Given the description of an element on the screen output the (x, y) to click on. 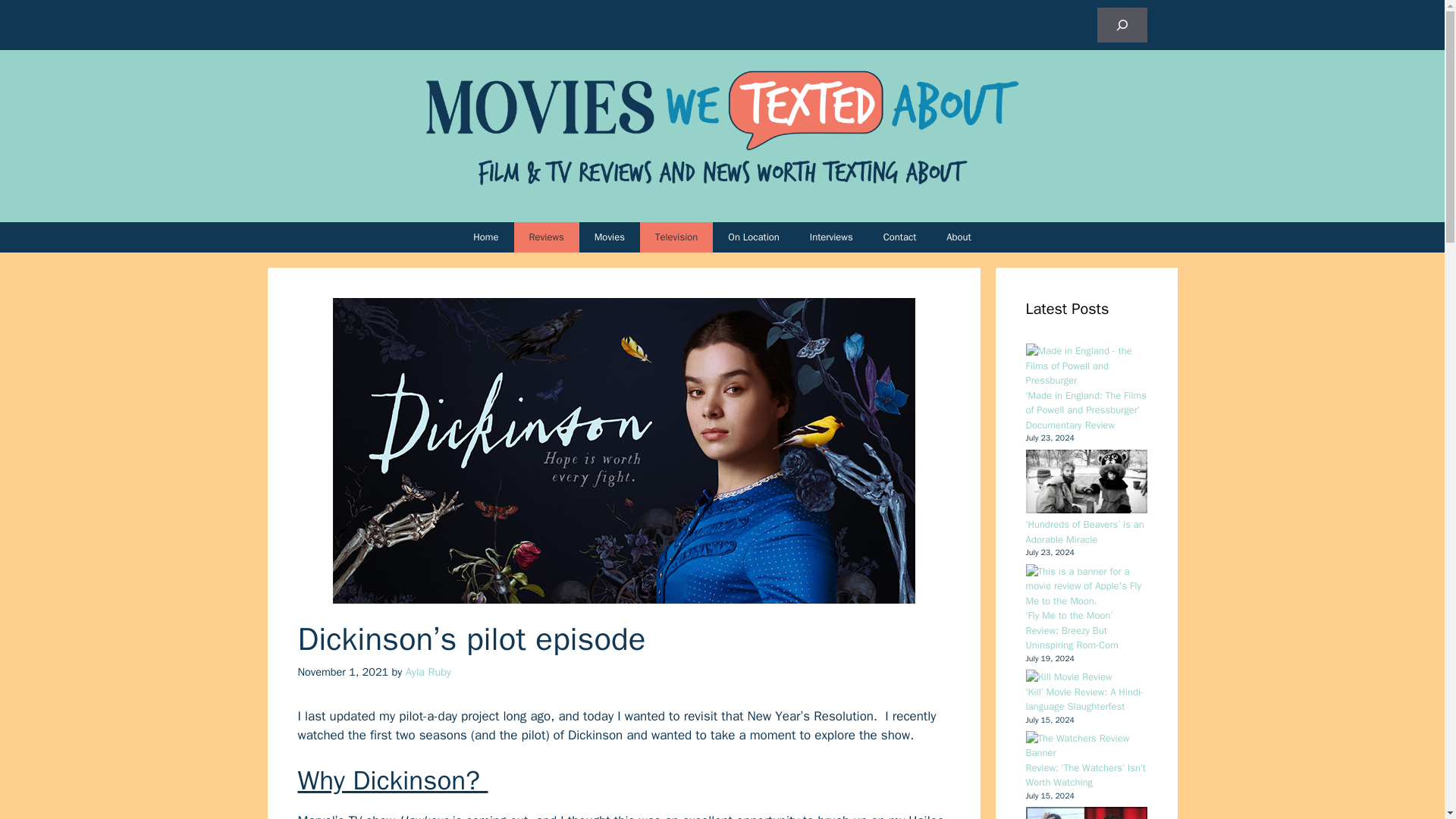
Reviews (546, 236)
Contact (899, 236)
Movies (609, 236)
Home (485, 236)
Television (676, 236)
On Location (753, 236)
Interviews (830, 236)
About (958, 236)
View all posts by Ayla Ruby (428, 671)
Ayla Ruby (428, 671)
